Given the description of an element on the screen output the (x, y) to click on. 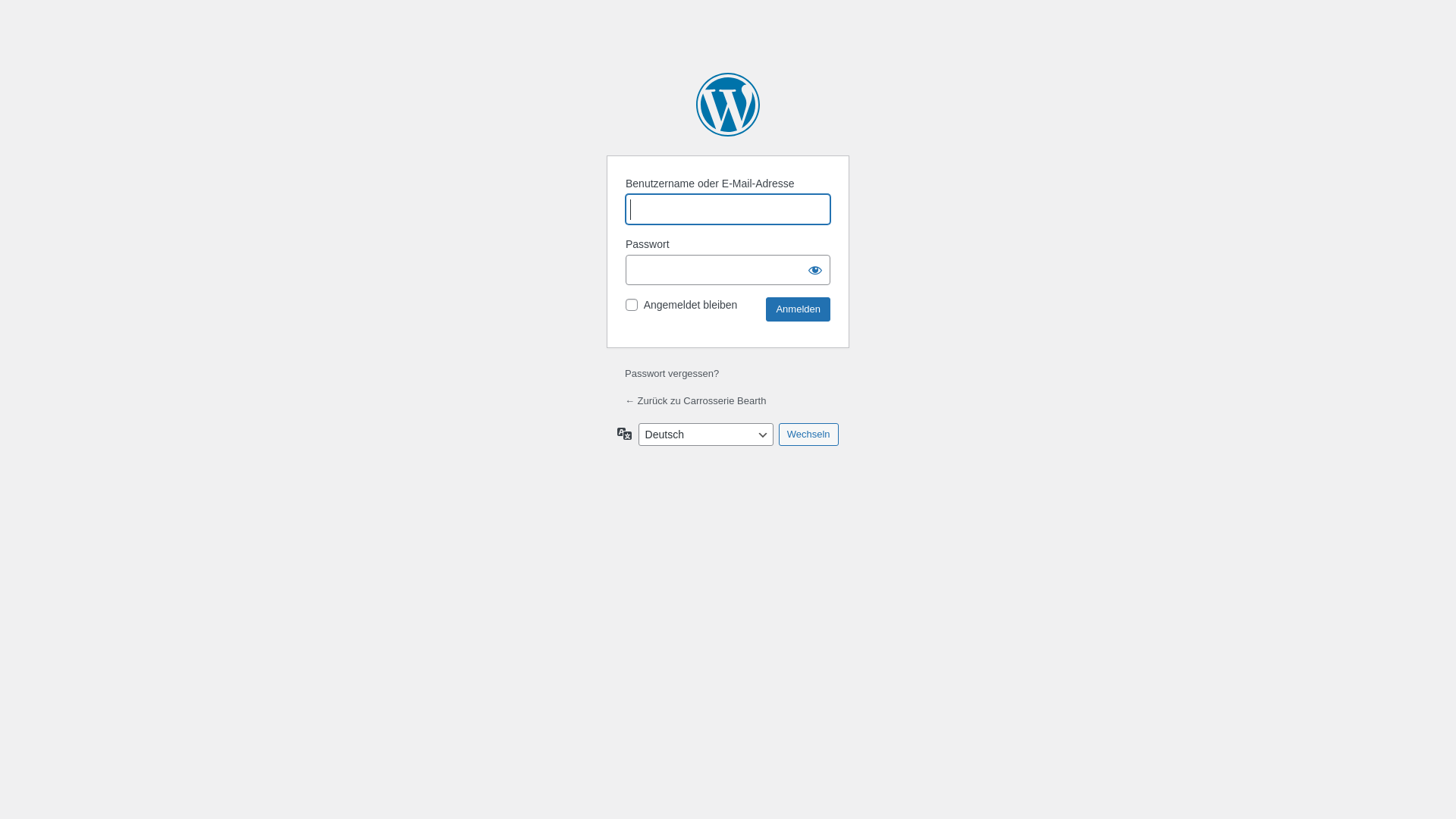
Passwort vergessen? Element type: text (671, 373)
Anmelden Element type: text (797, 309)
Wechseln Element type: text (808, 434)
Powered by WordPress Element type: text (727, 104)
